Given the description of an element on the screen output the (x, y) to click on. 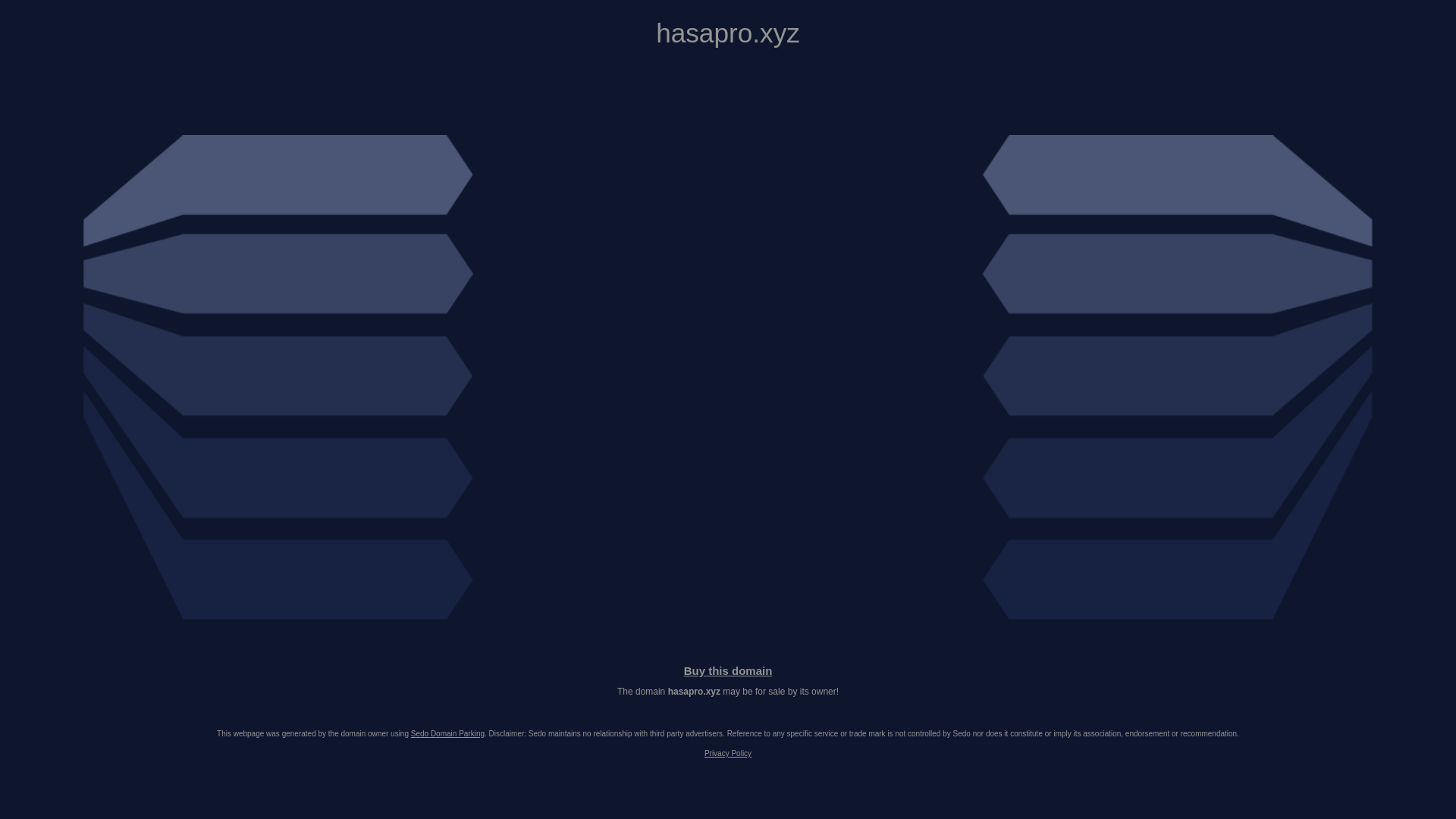
The domain hasapro.xyz may be for sale by its owner! Element type: text (727, 691)
Buy this domain Element type: text (728, 670)
Sedo Domain Parking Element type: text (447, 733)
Privacy Policy Element type: text (727, 753)
